Given the description of an element on the screen output the (x, y) to click on. 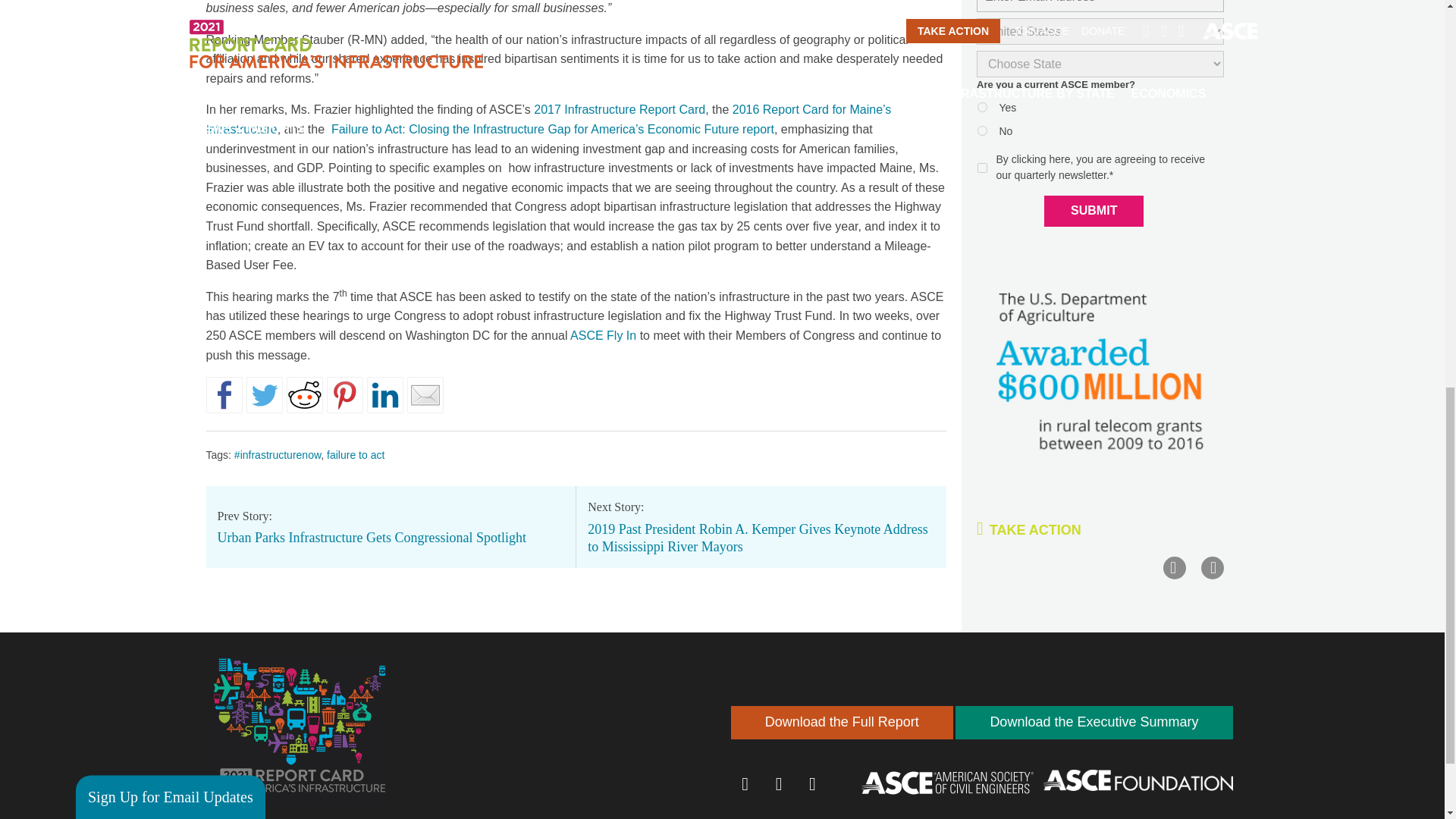
No (92, 379)
No (981, 130)
Share on Reddit (304, 394)
Pin it with Pinterest (344, 394)
Share on Twitter (264, 394)
Share on Facebook (224, 394)
Submit (136, 488)
Submit (1092, 210)
Yes (92, 356)
Yes (981, 107)
